Given the description of an element on the screen output the (x, y) to click on. 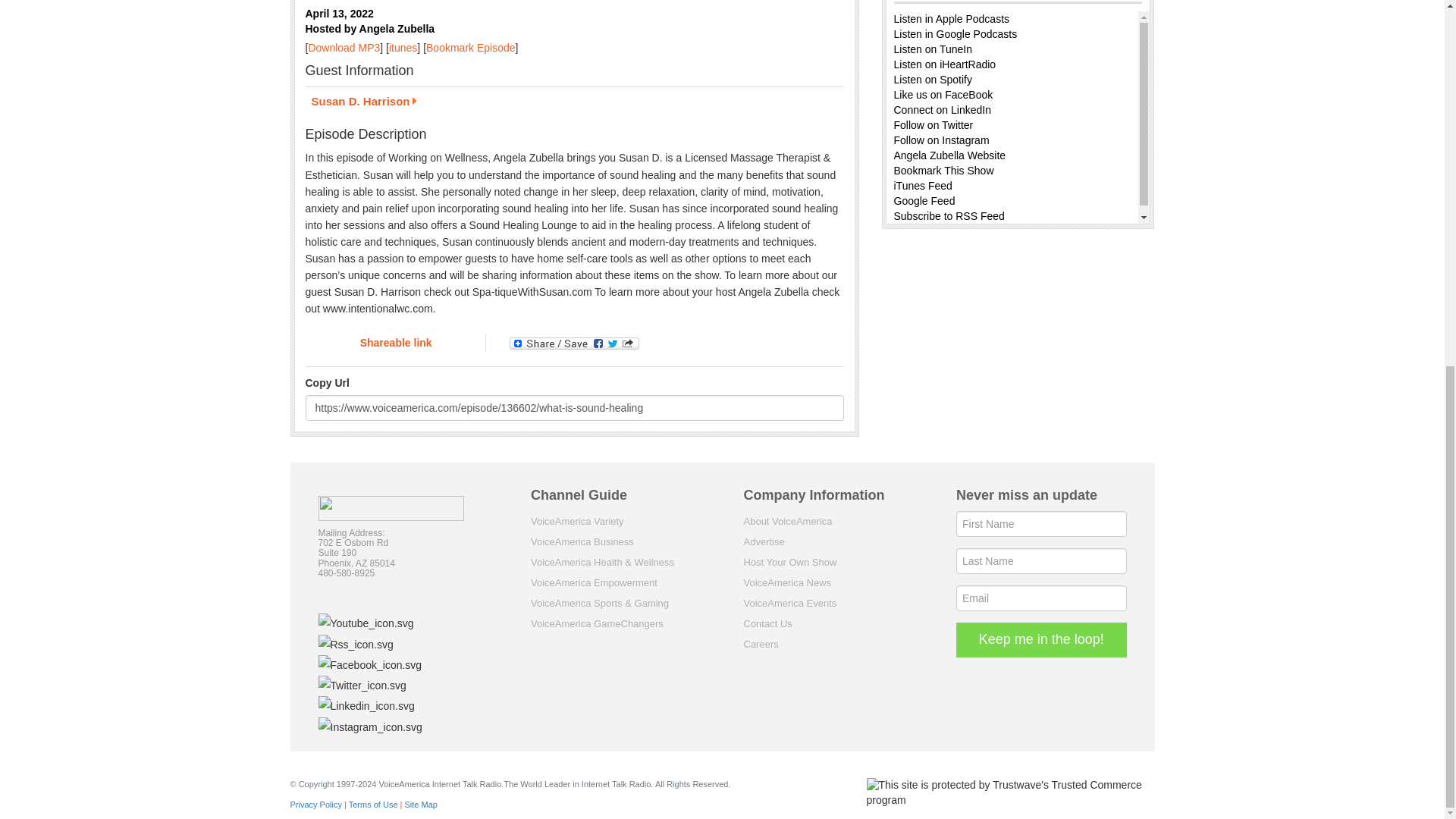
itunes (402, 47)
Download MP3 (343, 47)
Susan D. Harrison (573, 102)
Bookmark Episode (470, 47)
